Given the description of an element on the screen output the (x, y) to click on. 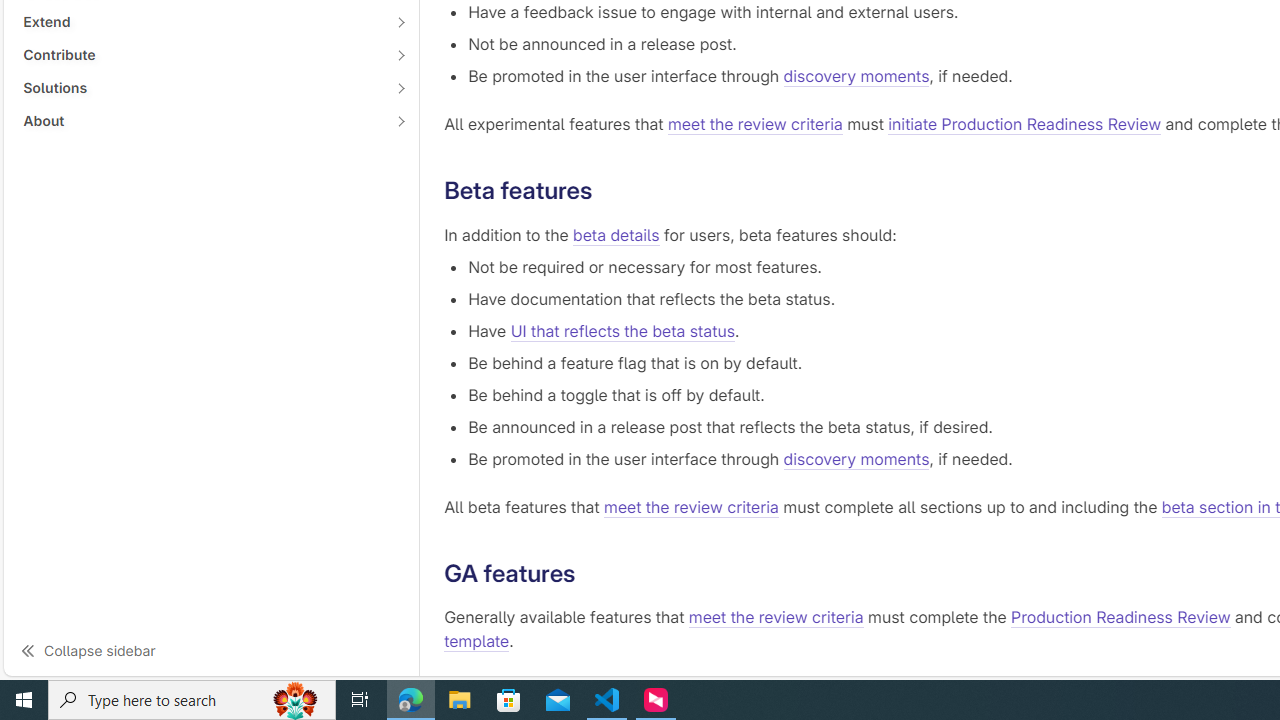
meet the review criteria (776, 617)
Collapse sidebar (211, 650)
Permalink (591, 573)
discovery moments (856, 458)
Contribute (199, 54)
Extend (199, 21)
Solutions (199, 87)
UI that reflects the beta status (621, 330)
beta details (616, 234)
Production Readiness Review (1121, 617)
initiate Production Readiness Review (1025, 124)
